Given the description of an element on the screen output the (x, y) to click on. 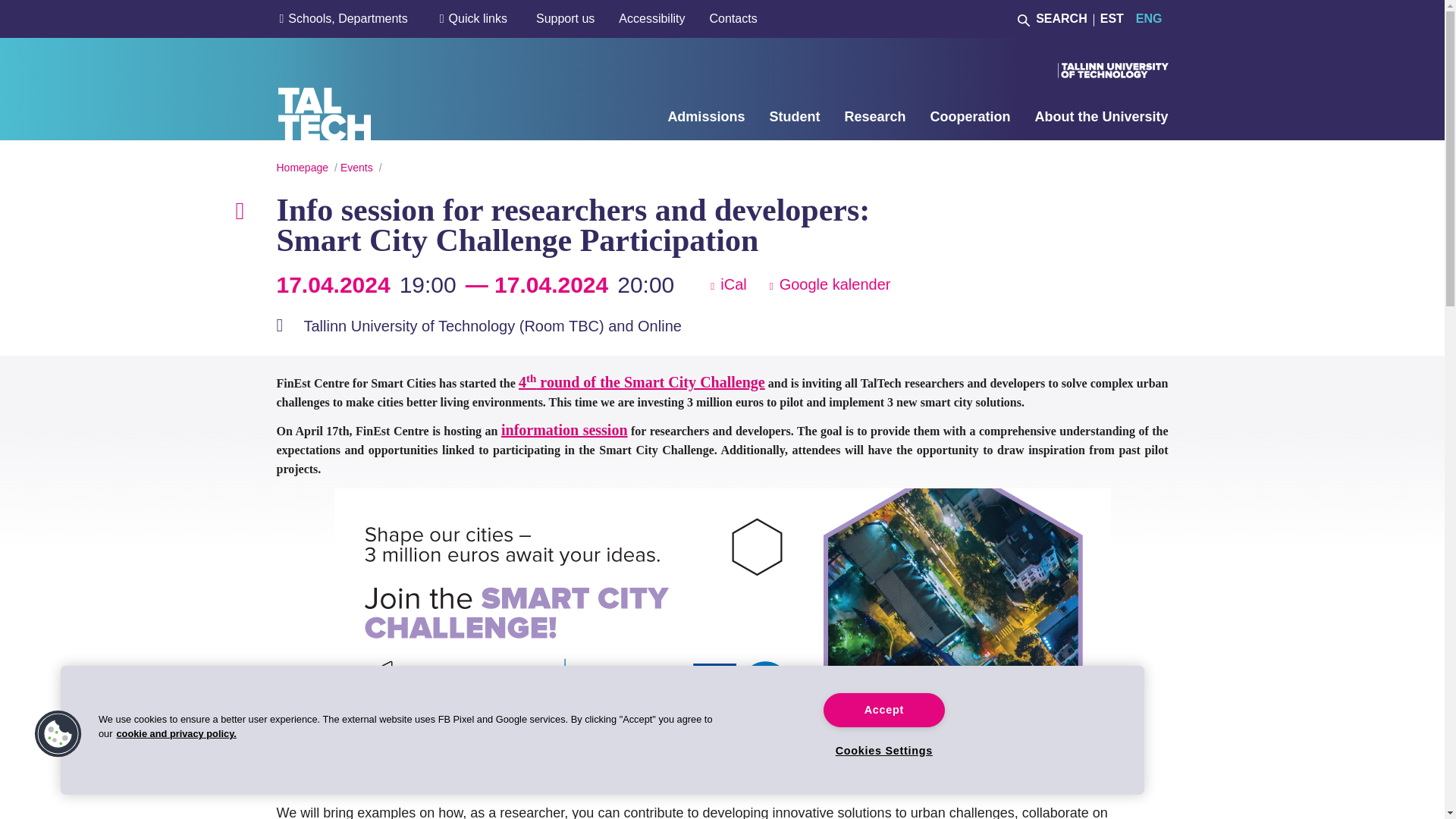
4th round of the Smart City Challenge (641, 381)
Student (793, 116)
iCal (727, 284)
Events (356, 167)
Support us (564, 18)
Contacts (733, 18)
back (245, 207)
Accessibility (651, 18)
Admissions (705, 116)
Research (874, 116)
Schools, Departments (347, 18)
Cookies Button (57, 734)
EST (1111, 18)
ENG (1145, 18)
About the University (1100, 116)
